Given the description of an element on the screen output the (x, y) to click on. 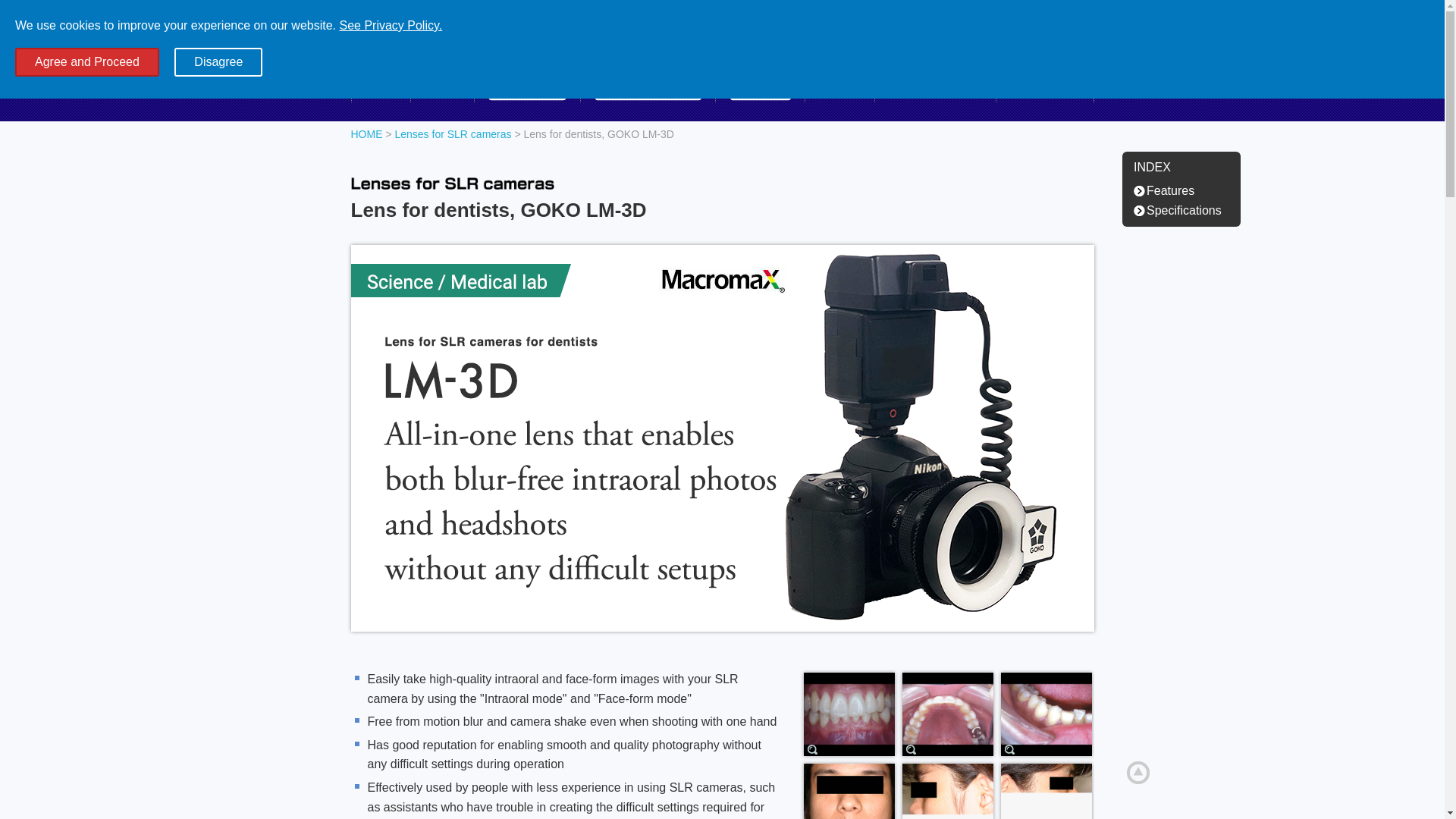
Lenses for SLR cameras (452, 133)
Site Search (994, 52)
Site Search (994, 52)
Specifications (1181, 210)
Features (1168, 190)
HOME (365, 133)
